Given the description of an element on the screen output the (x, y) to click on. 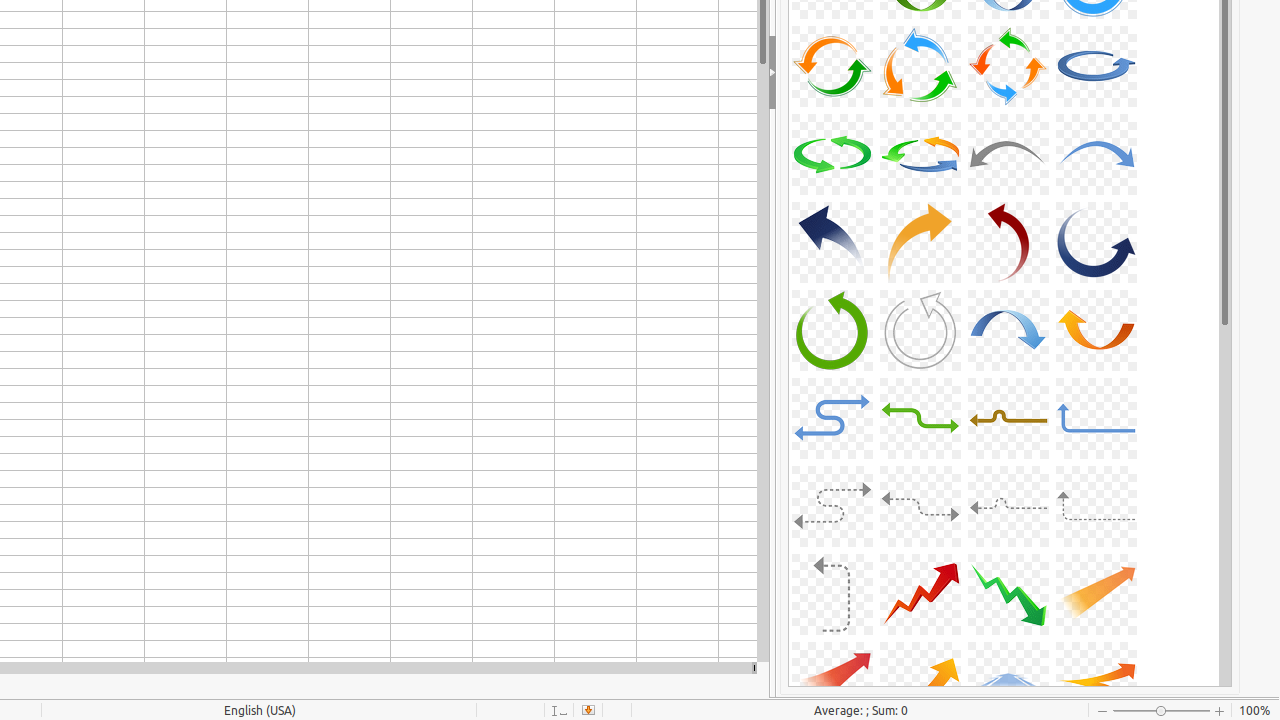
A35-CurvedArrow-Brown-Left Element type: list-item (1008, 417)
A22-CircleArrow Element type: list-item (920, 154)
A32-CurvedArrow-Orange Element type: list-item (1096, 330)
